Given the description of an element on the screen output the (x, y) to click on. 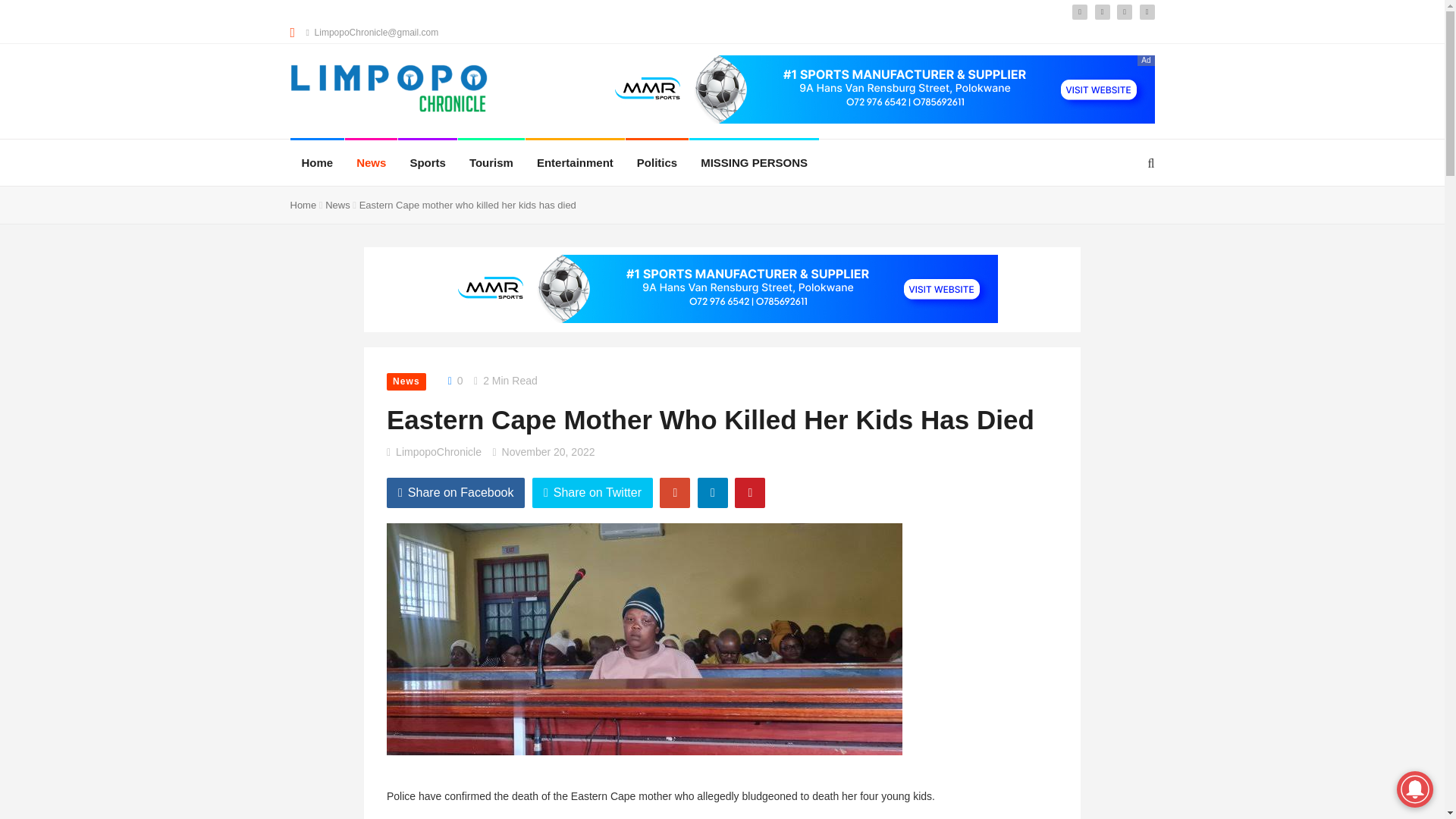
News (406, 381)
November 20, 2022 (548, 451)
Tourism (490, 162)
0 (454, 380)
Limpopo Chronicle (389, 89)
Share on Twitter (592, 492)
Entertainment (574, 162)
Tourism (490, 162)
Share on Facebook (456, 492)
Entertainment (574, 162)
Home (302, 204)
News (337, 204)
Limpopo Chronicle (192, 92)
Share on Facebook! (456, 492)
MISSING PERSONS (754, 162)
